Given the description of an element on the screen output the (x, y) to click on. 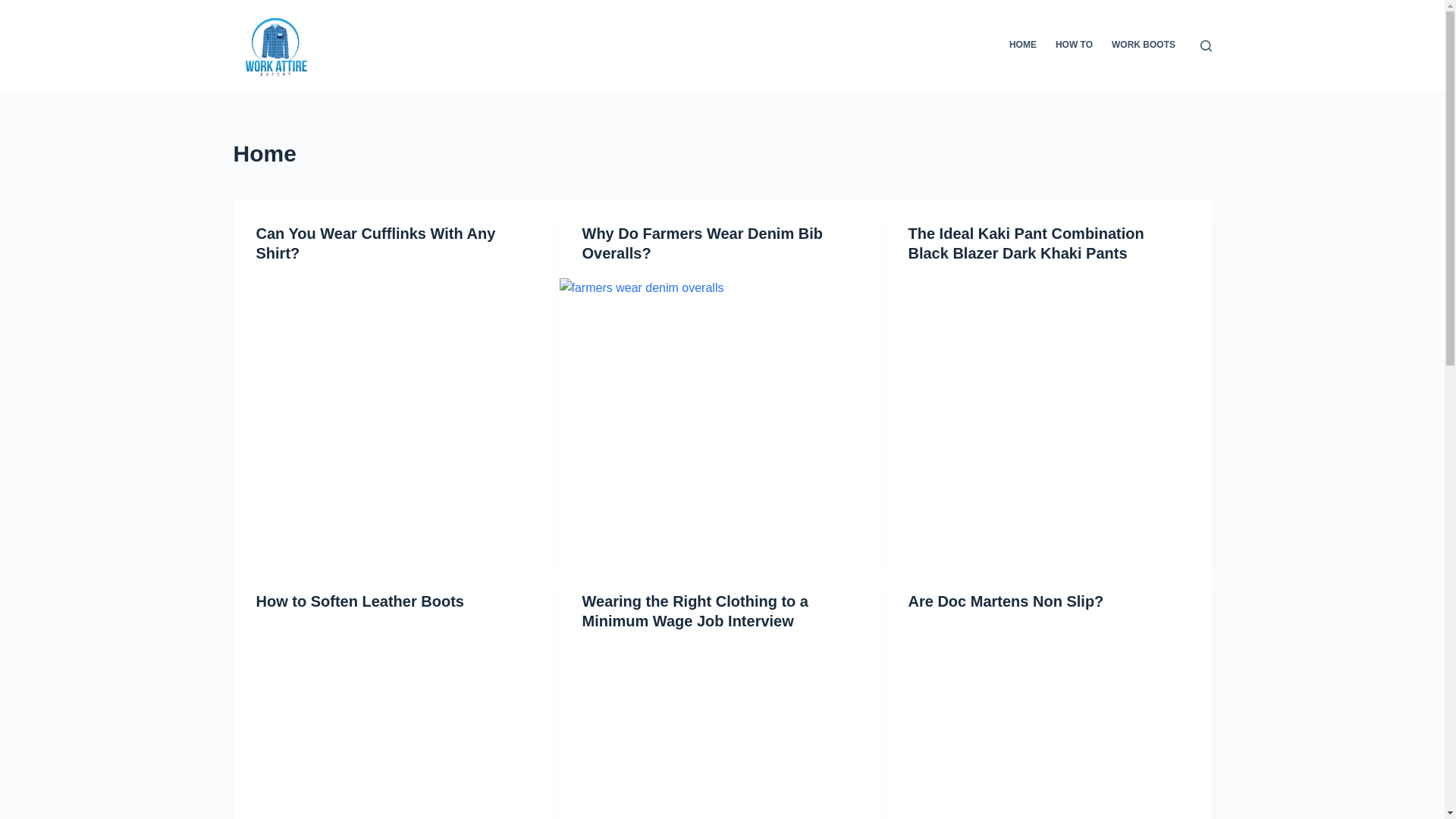
Why Do Farmers Wear Denim Bib Overalls? (702, 243)
How to Soften Leather Boots (360, 600)
Can You Wear Cufflinks With Any Shirt? (376, 243)
Wearing the Right Clothing to a Minimum Wage Job Interview (695, 610)
Home (721, 153)
Skip to content (15, 7)
Are Doc Martens Non Slip? (1005, 600)
WORK BOOTS (1143, 45)
